Given the description of an element on the screen output the (x, y) to click on. 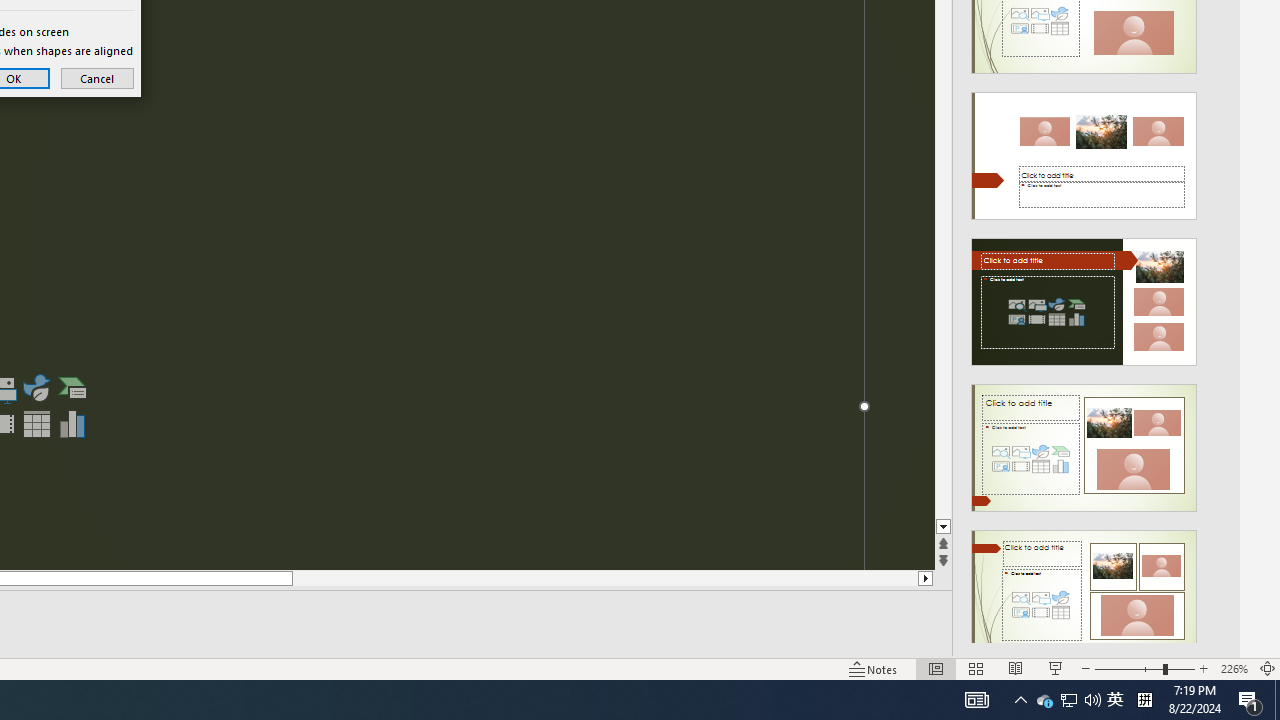
Zoom 226% (1234, 668)
Insert Table (36, 423)
Design Idea (1083, 587)
Insert Chart (73, 423)
